Given the description of an element on the screen output the (x, y) to click on. 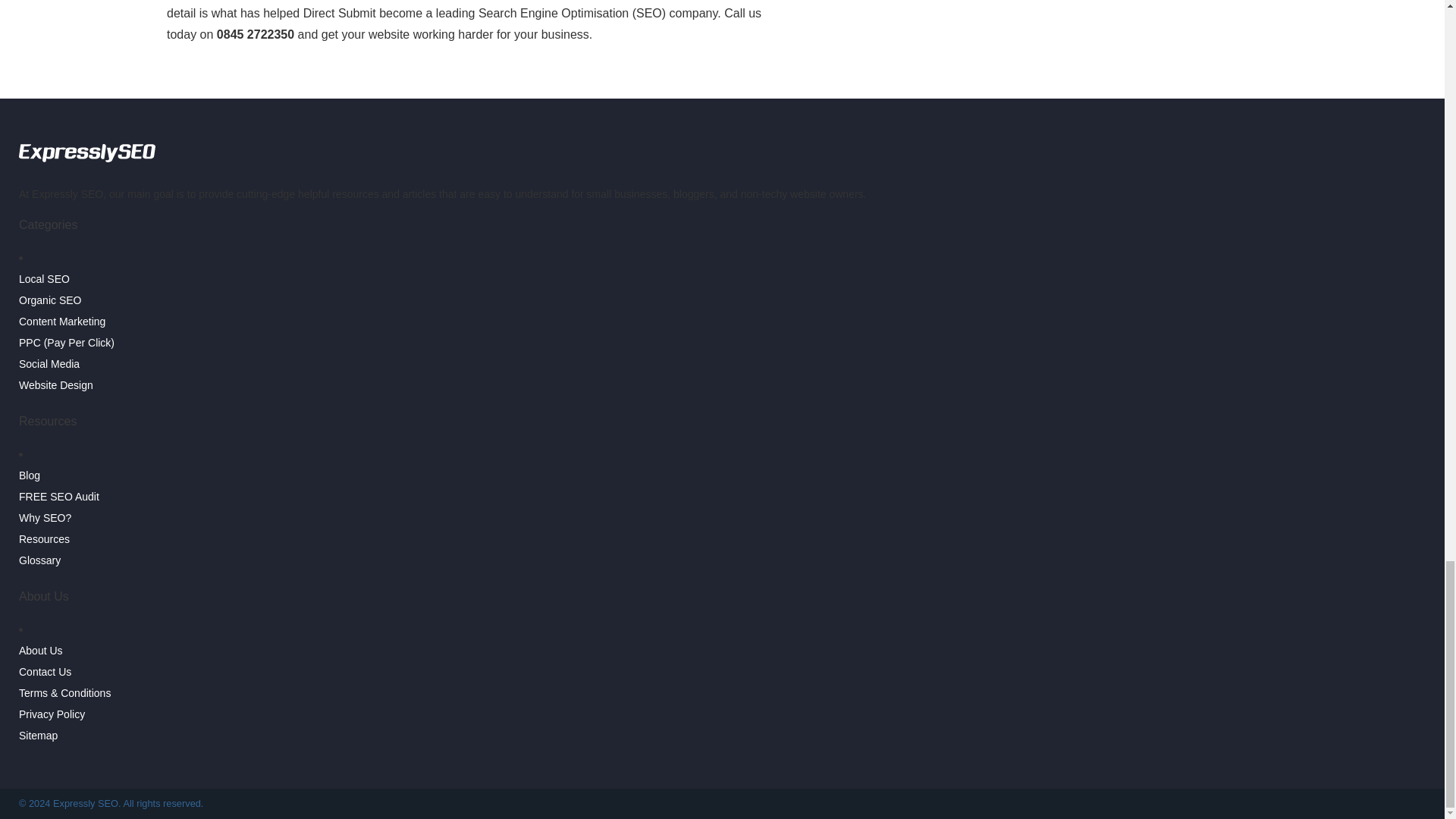
Social Media (49, 363)
Organic SEO (49, 300)
Resources (43, 539)
Content Marketing (61, 321)
Website Design (55, 385)
Local SEO (43, 278)
Contact Us (44, 671)
Sitemap (38, 735)
Privacy Policy (51, 714)
Why SEO? (44, 517)
About Us (40, 650)
Expressly SEO (86, 163)
Glossary (39, 560)
FREE SEO Audit (58, 496)
Blog (29, 475)
